Given the description of an element on the screen output the (x, y) to click on. 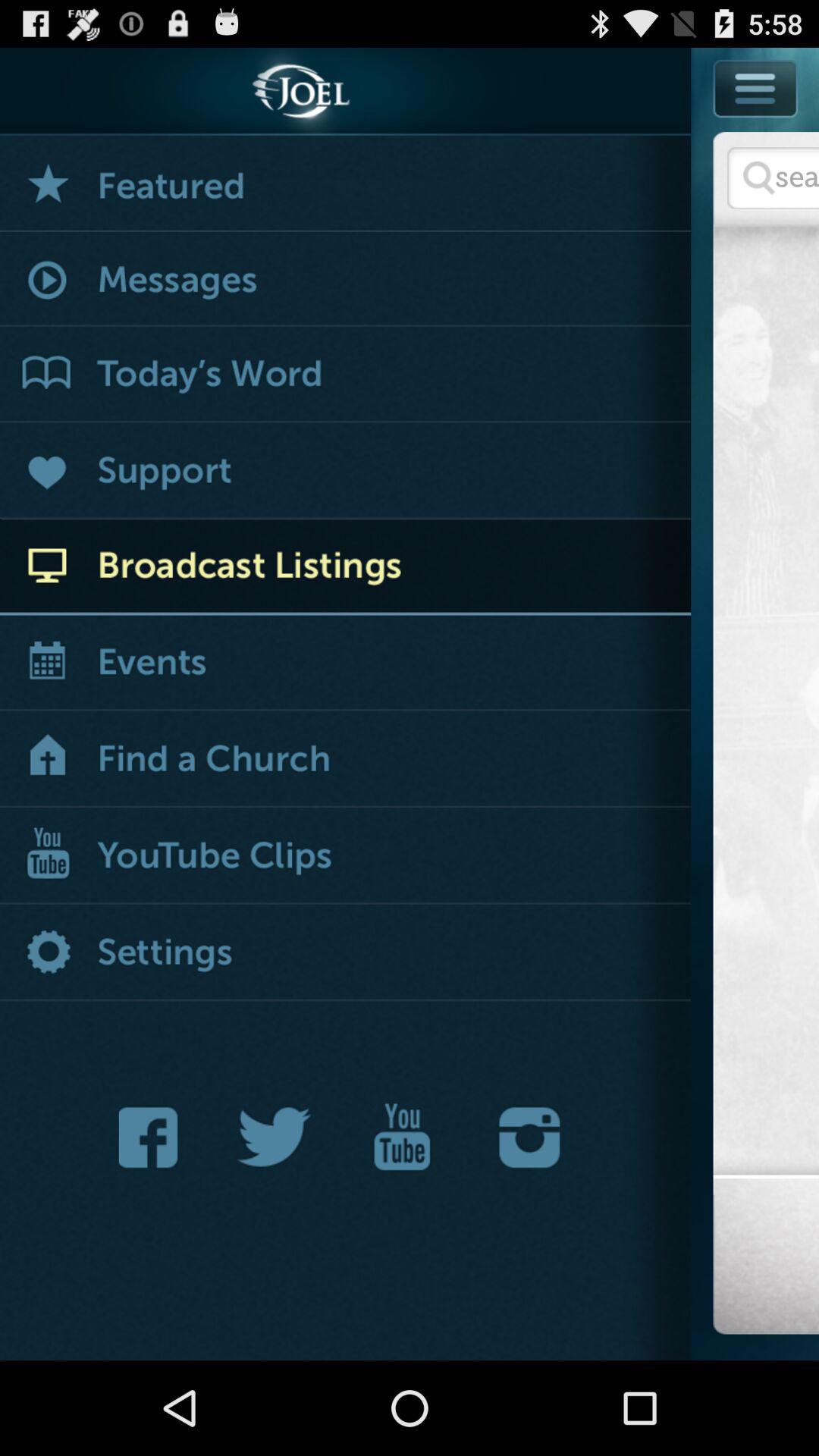
open today 's word (345, 375)
